Given the description of an element on the screen output the (x, y) to click on. 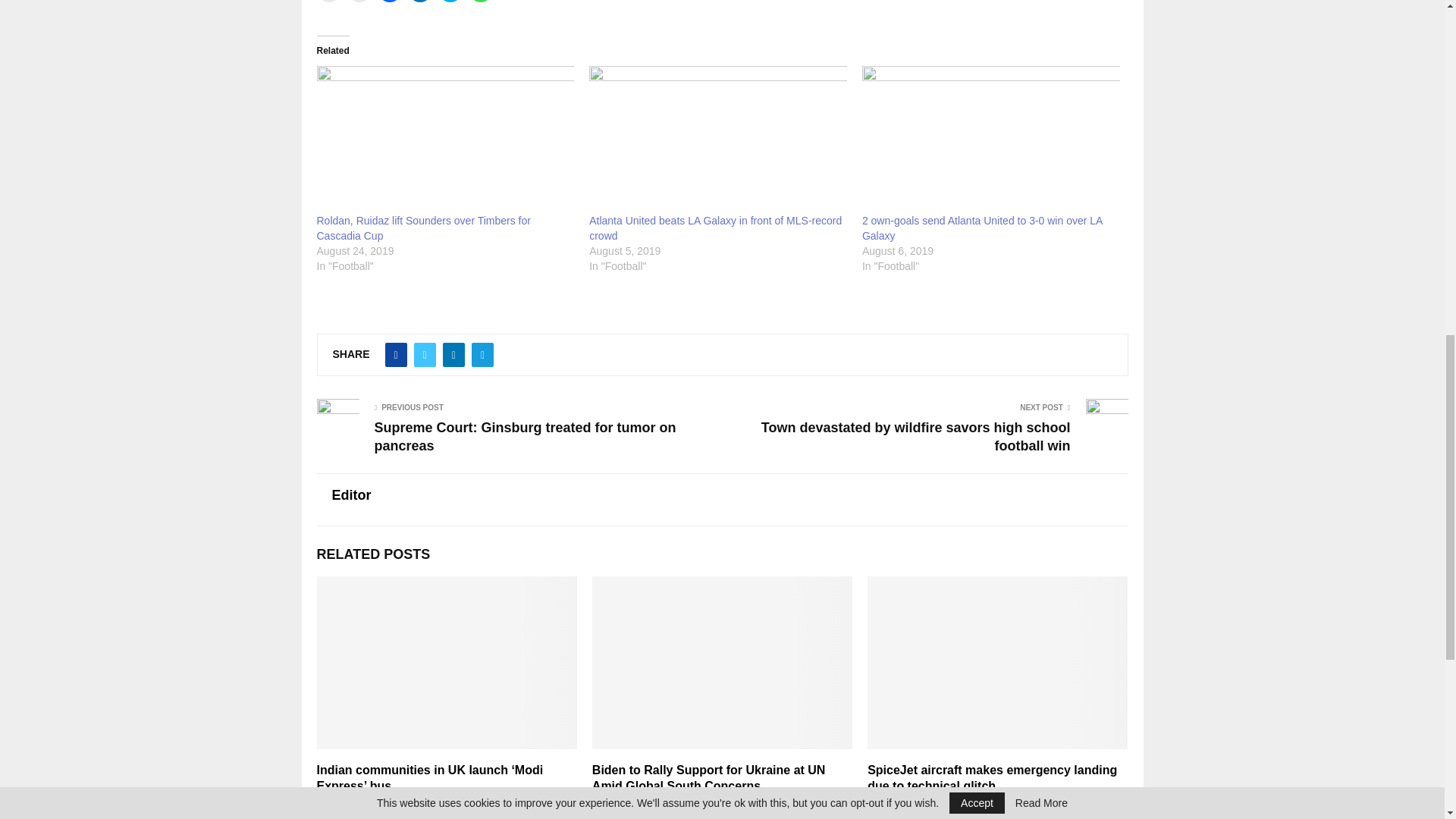
Click to share on LinkedIn (419, 0)
Click to email a link to a friend (328, 0)
Click to print (359, 0)
Click to share on Facebook (389, 0)
